Given the description of an element on the screen output the (x, y) to click on. 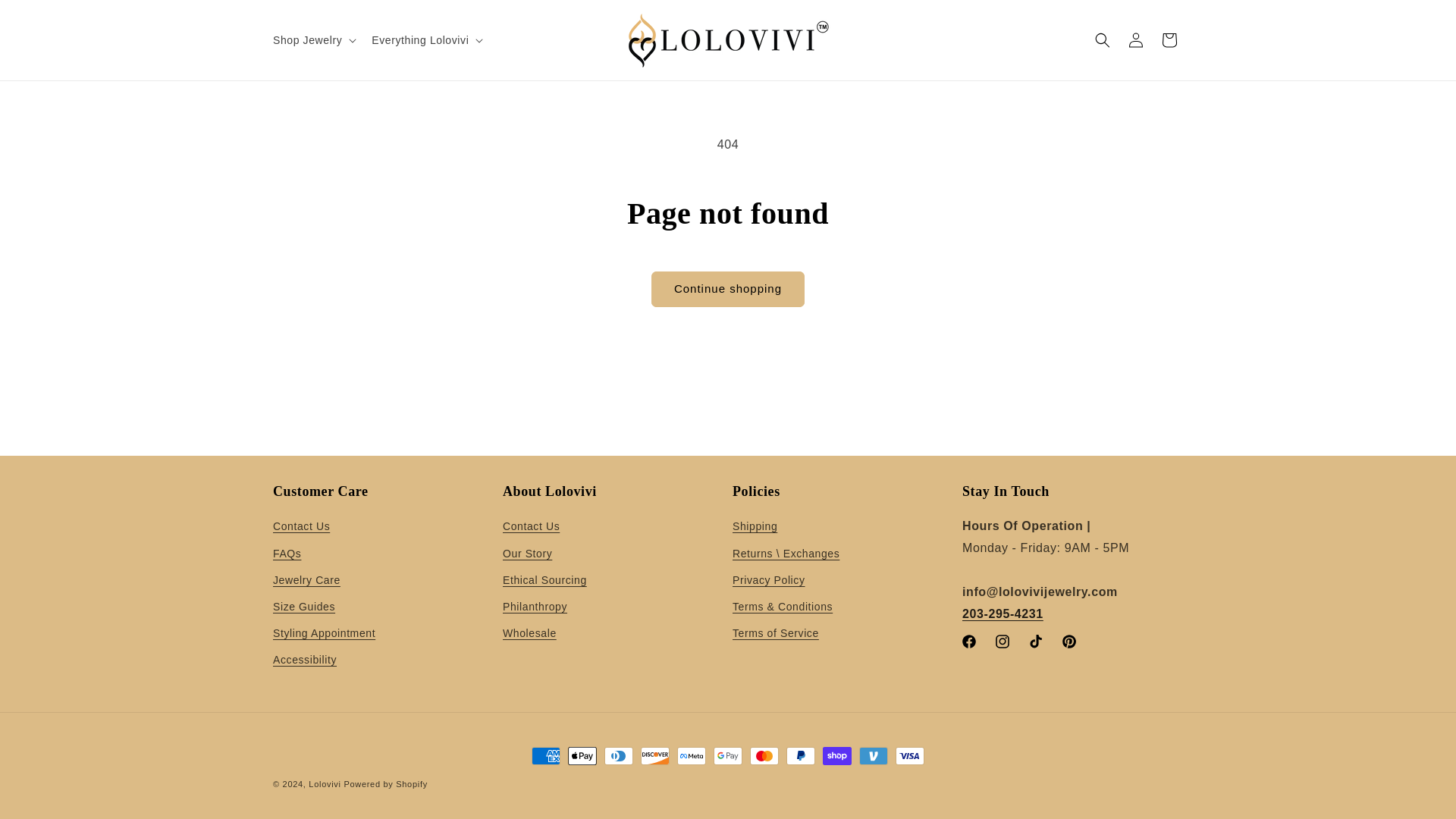
Skip to content (45, 17)
